Given the description of an element on the screen output the (x, y) to click on. 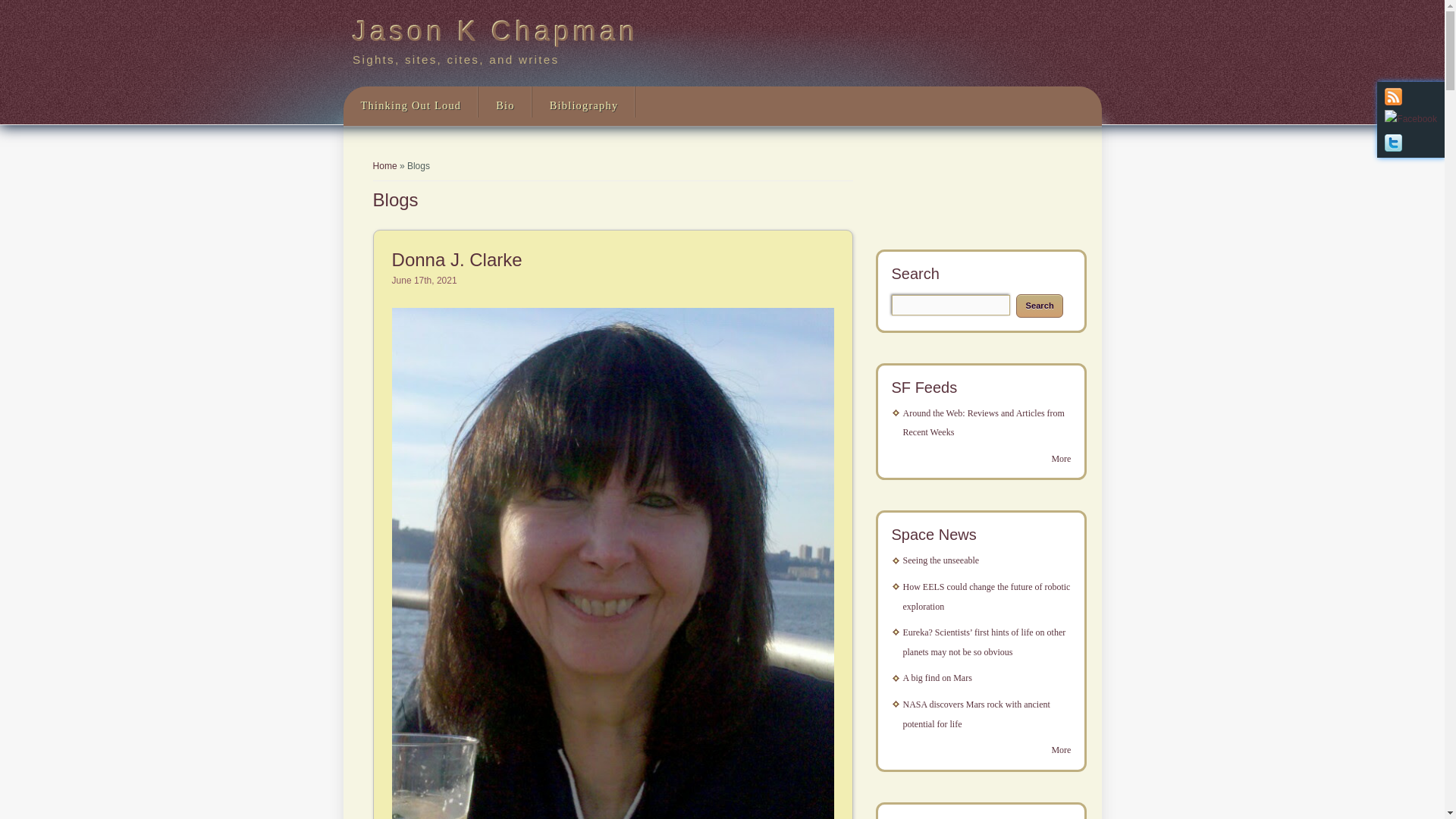
Jason K Chapman (495, 31)
Recent Publications (584, 106)
Home (495, 31)
Donna J. Clarke (456, 259)
Bio (505, 106)
Bibliography (584, 106)
Thinking Out Loud (410, 106)
Bio Matter (505, 106)
Home (384, 165)
Jason's Blog (410, 106)
